Given the description of an element on the screen output the (x, y) to click on. 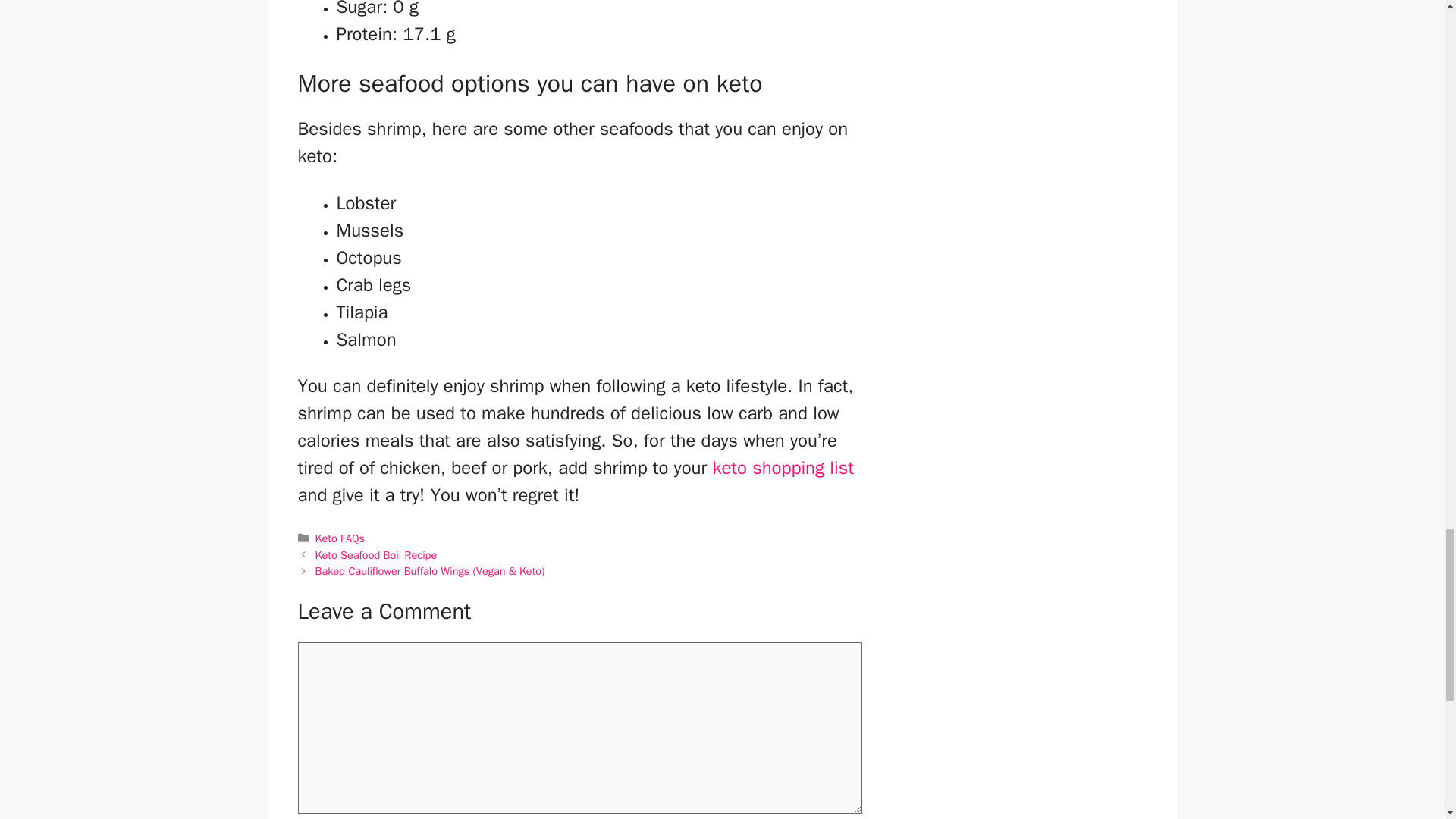
keto shopping list (782, 467)
Keto FAQs (340, 538)
Keto Seafood Boil Recipe (376, 554)
Next (429, 571)
Previous (376, 554)
